Given the description of an element on the screen output the (x, y) to click on. 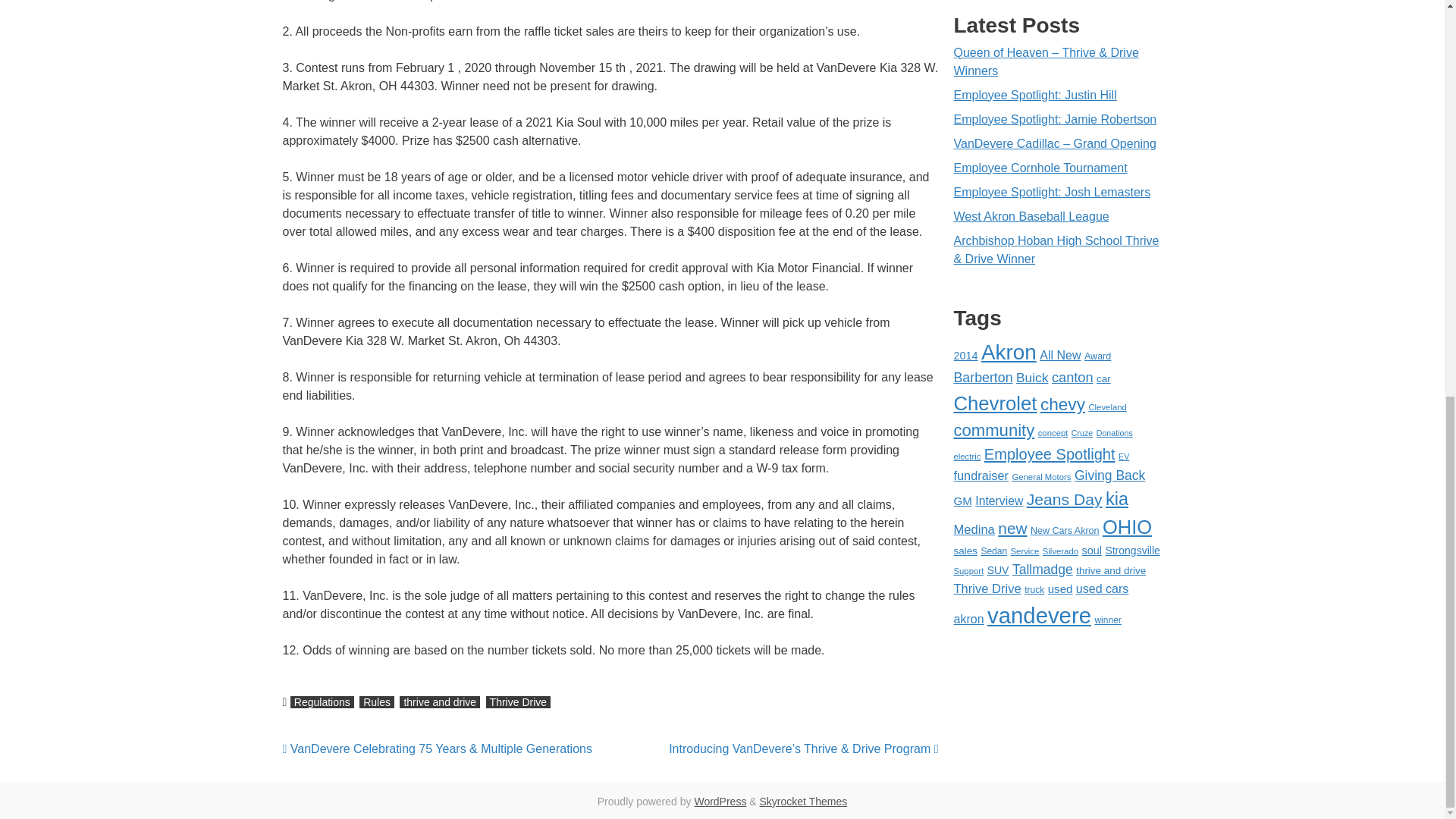
thrive and drive (439, 702)
Rules (376, 702)
Thrive Drive (518, 702)
Semantic Personal Publishing Platform (719, 801)
Regulations (321, 702)
